Given the description of an element on the screen output the (x, y) to click on. 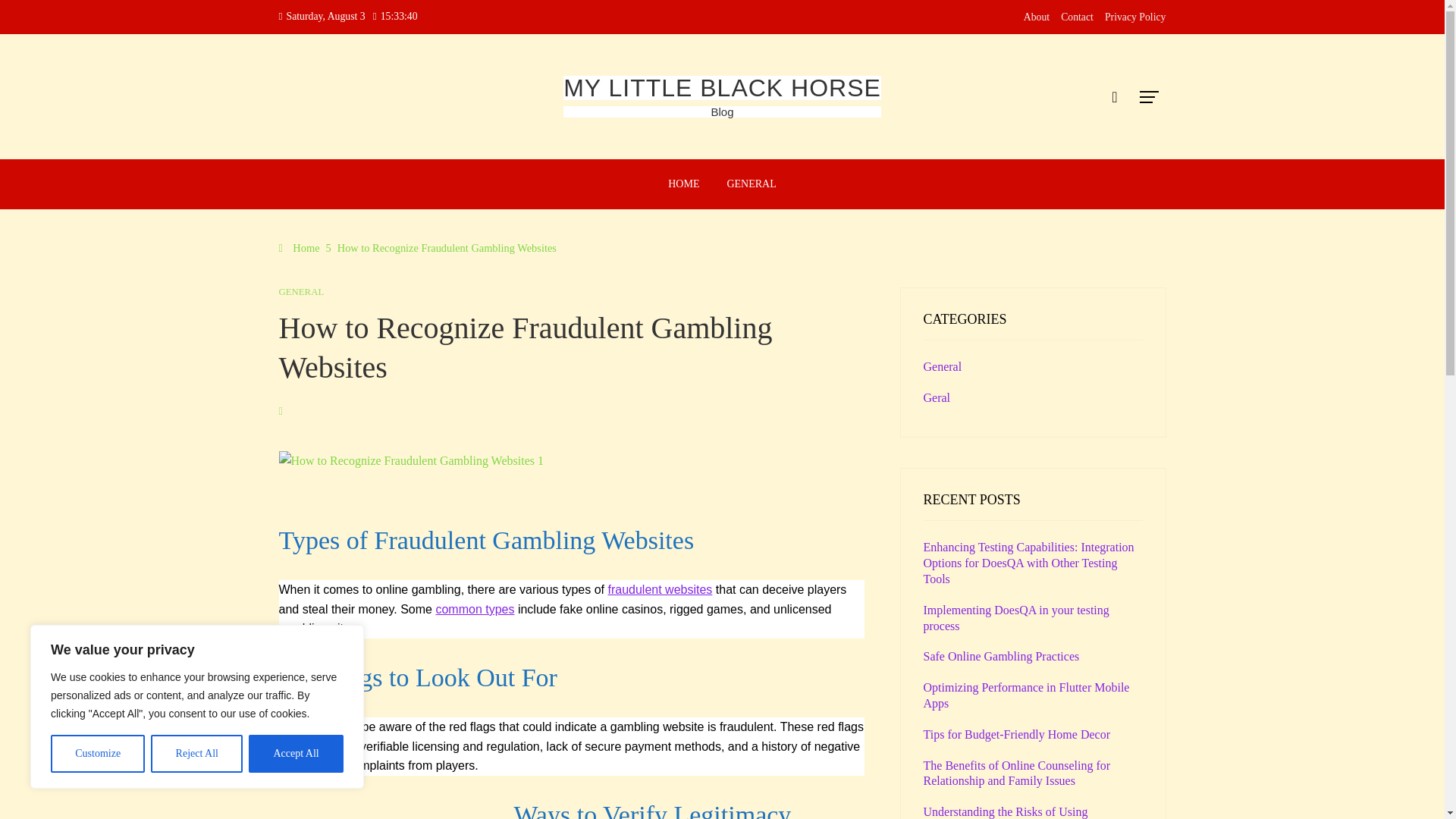
Contact (1077, 17)
fraudulent websites (660, 589)
Reject All (197, 753)
HOME (683, 183)
General (942, 366)
Privacy Policy (1135, 17)
Home (299, 247)
Blog (721, 111)
MY LITTLE BLACK HORSE (721, 87)
Customize (97, 753)
